Given the description of an element on the screen output the (x, y) to click on. 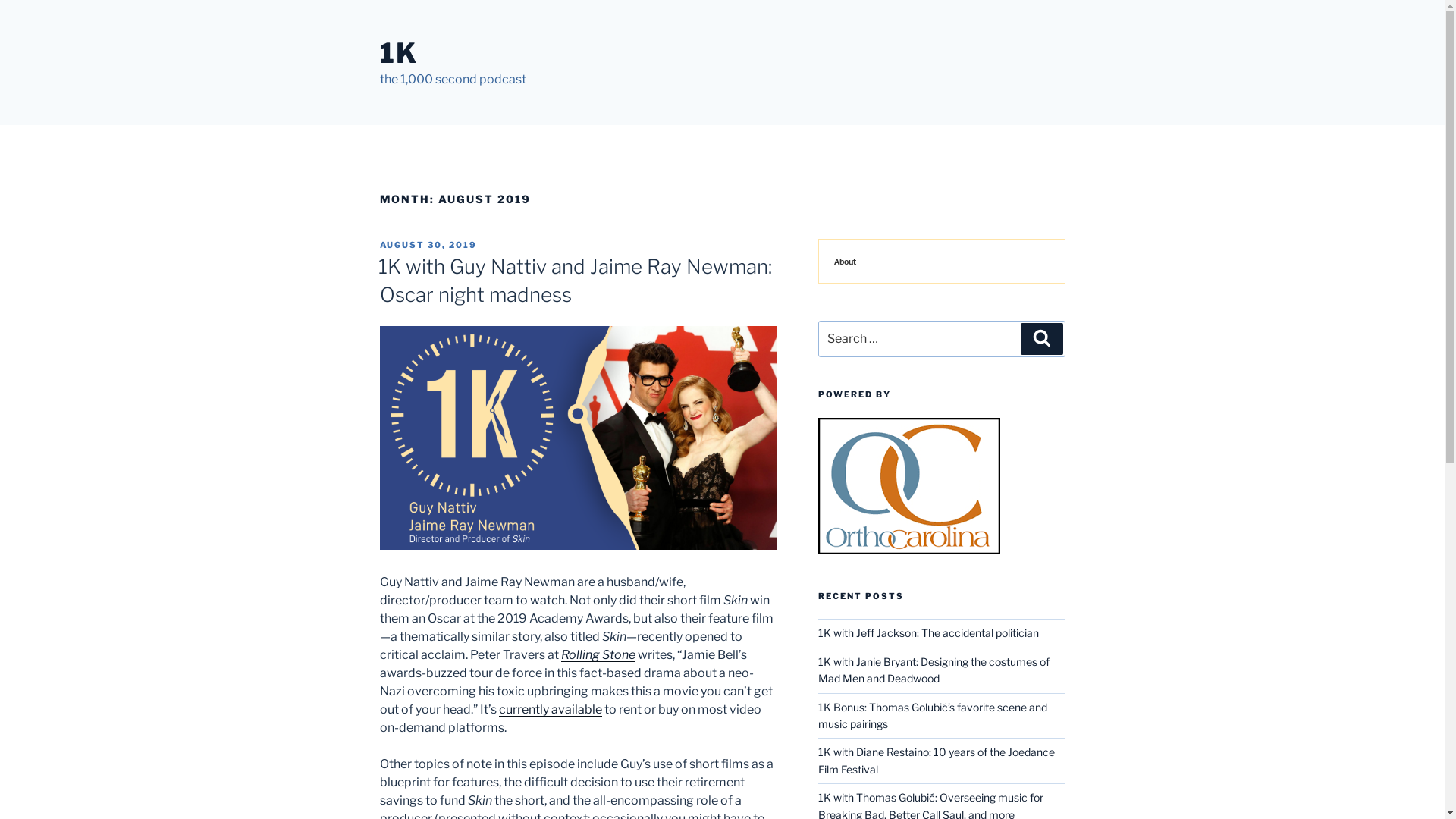
currently available Element type: text (550, 709)
AUGUST 30, 2019 Element type: text (427, 244)
1K Element type: text (398, 52)
About Element type: text (941, 260)
1K with Jeff Jackson: The accidental politician Element type: text (928, 632)
Rolling Stone Element type: text (598, 654)
1K with Guy Nattiv and Jaime Ray Newman: Oscar night madness Element type: text (574, 279)
Search Element type: text (1041, 338)
